Given the description of an element on the screen output the (x, y) to click on. 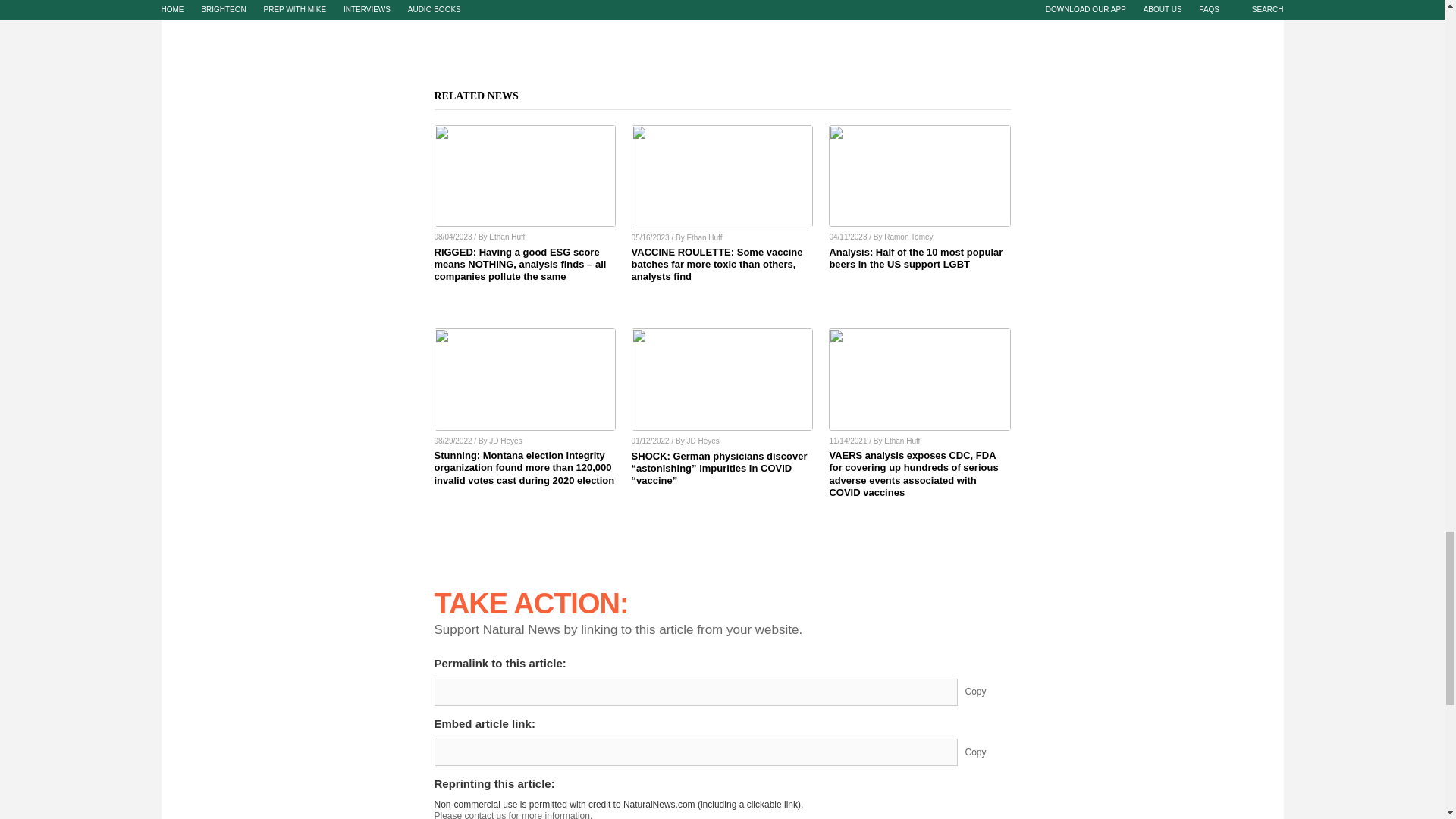
Continue (459, 739)
Copy Permalink (986, 424)
Copy Embed Link (986, 484)
